Given the description of an element on the screen output the (x, y) to click on. 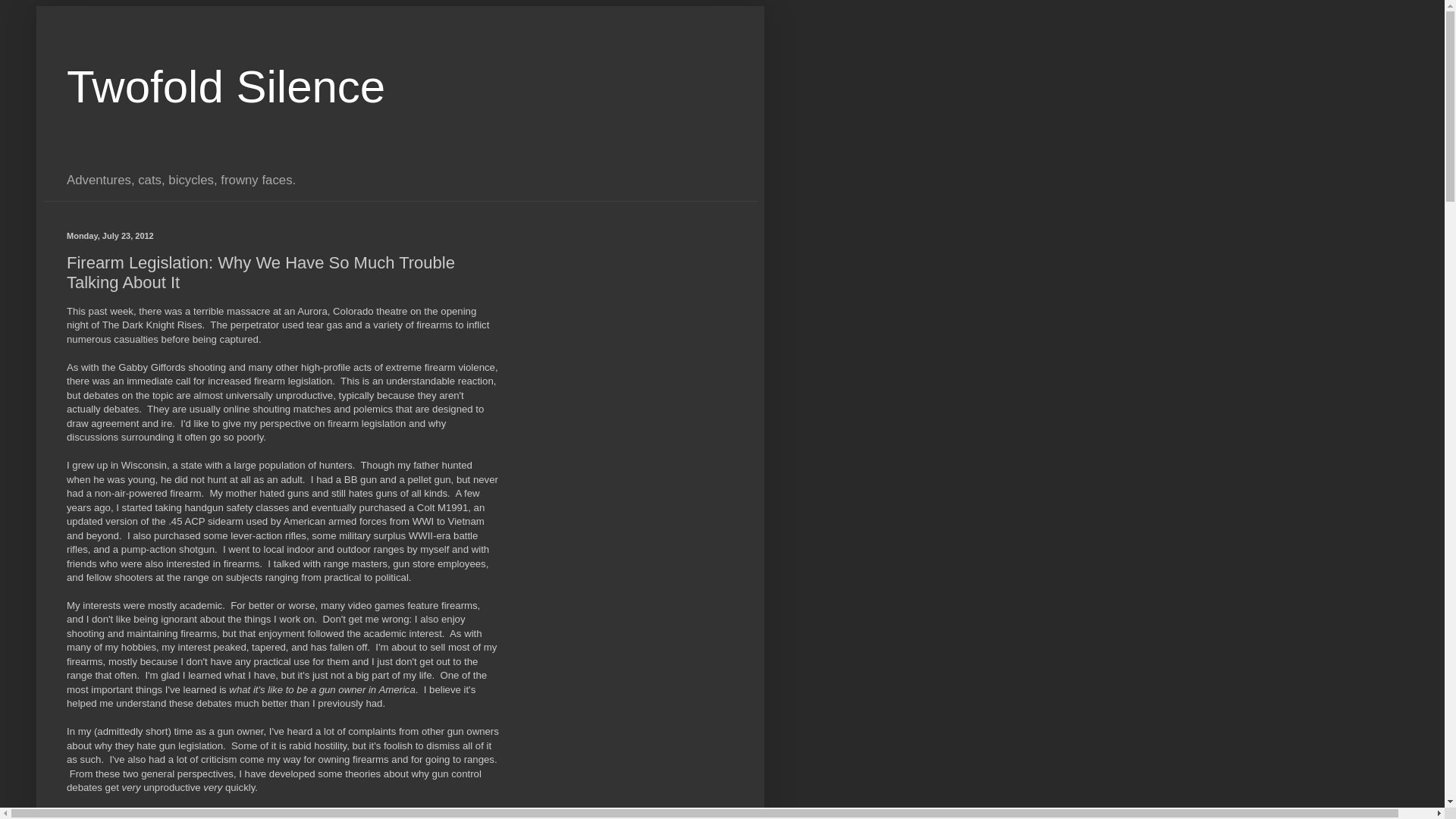
Twofold Silence (225, 86)
